Given the description of an element on the screen output the (x, y) to click on. 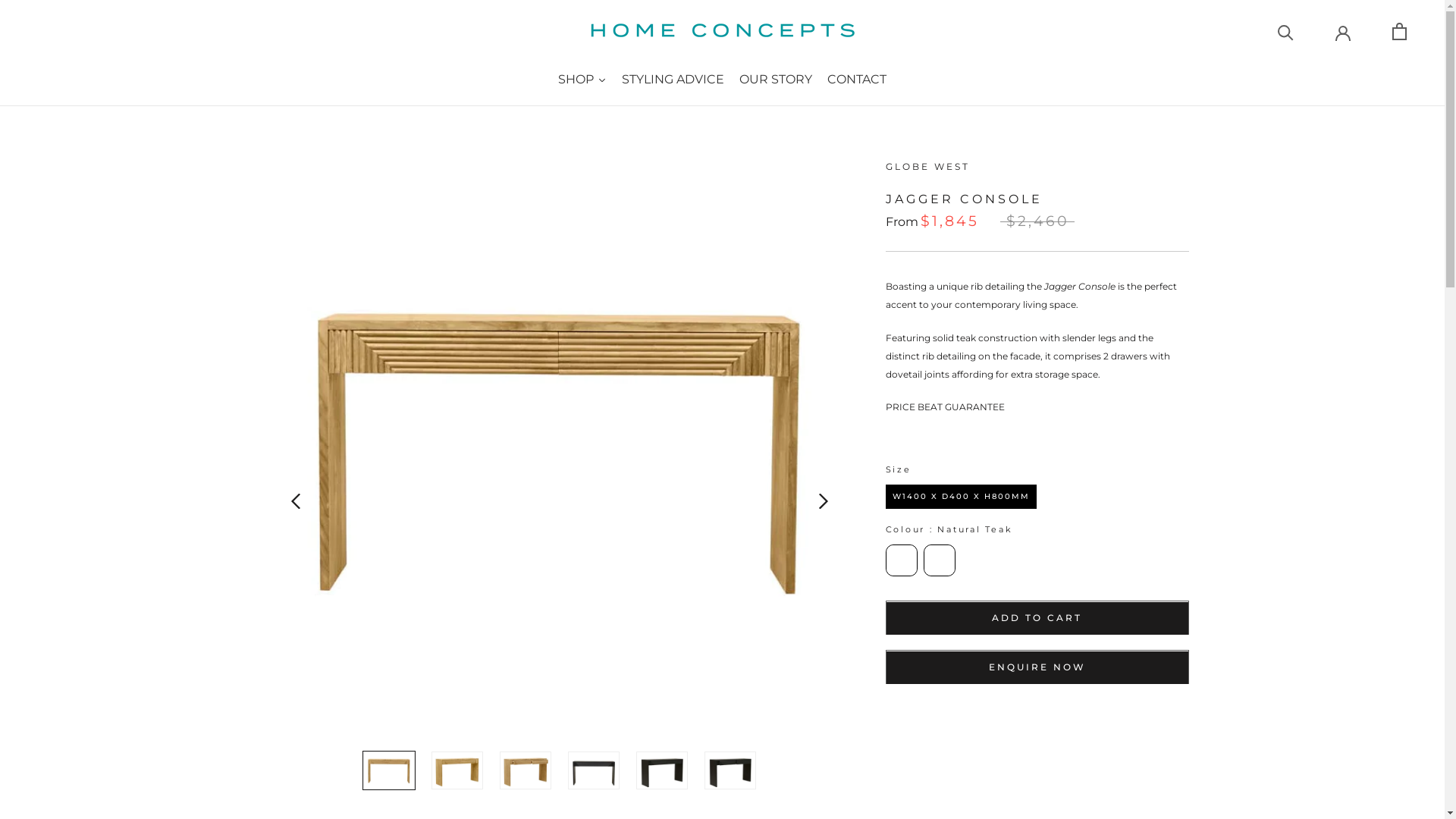
ADD TO CART Element type: text (1037, 617)
OUR STORY Element type: text (775, 79)
SHOP Element type: text (582, 79)
CONTACT Element type: text (856, 79)
ENQUIRE NOW Element type: text (1037, 667)
STYLING ADVICE Element type: text (672, 79)
